Given the description of an element on the screen output the (x, y) to click on. 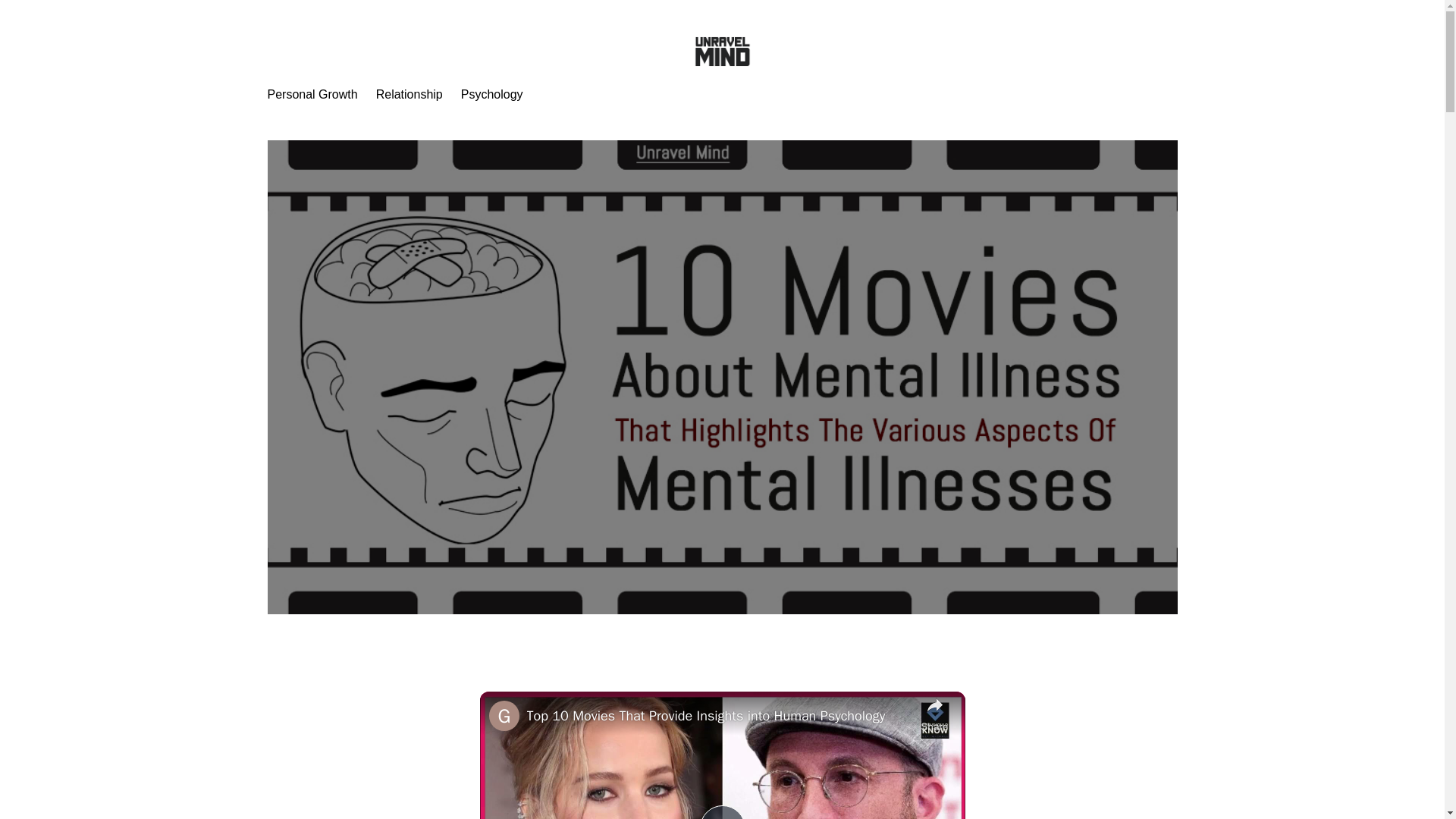
Psychology (491, 94)
Play Video (721, 812)
Top 10 Movies That Provide Insights into Human Psychology (718, 716)
Personal Growth (311, 94)
Play Video (721, 812)
Relationship (408, 94)
